Given the description of an element on the screen output the (x, y) to click on. 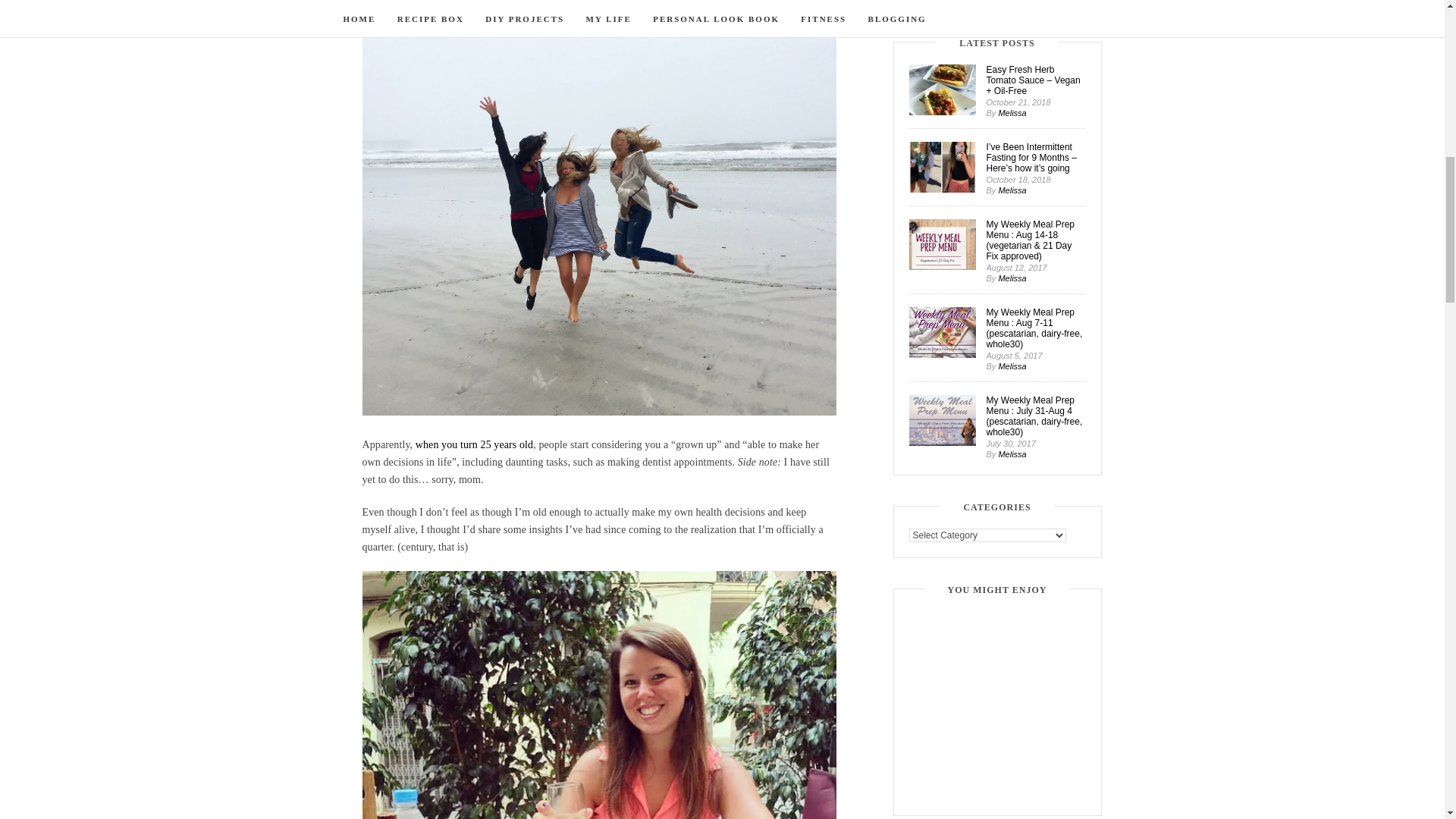
Posts by Melissa (1011, 453)
Posts by Melissa (1011, 277)
Posts by Melissa (1011, 112)
Posts by Melissa (1011, 366)
Posts by Melissa (1011, 189)
